Given the description of an element on the screen output the (x, y) to click on. 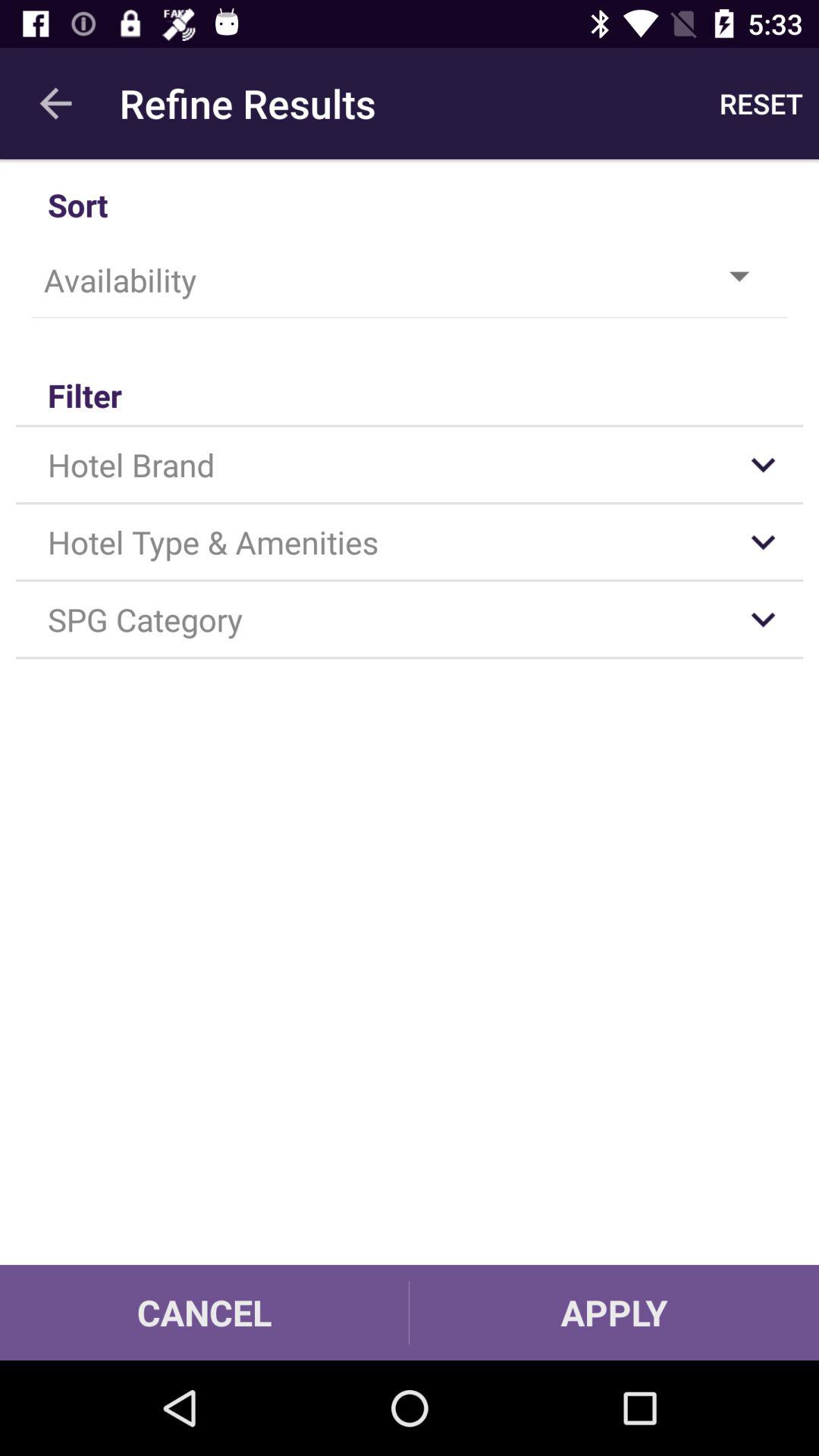
select item below spg category icon (614, 1312)
